Given the description of an element on the screen output the (x, y) to click on. 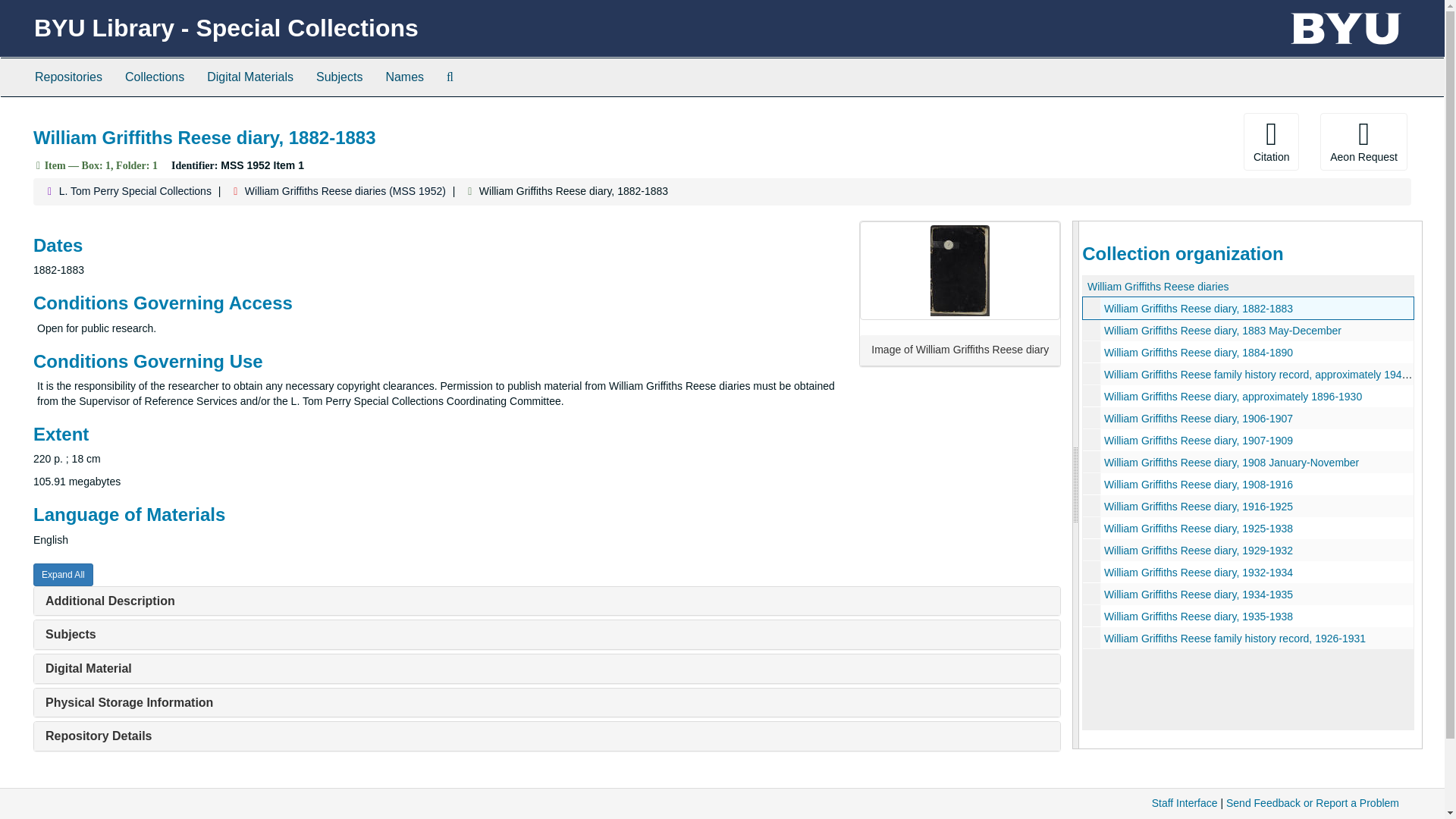
William Griffiths Reese family history record (1248, 373)
William Griffiths Reese diary (1248, 308)
William Griffiths Reese diary (1248, 418)
William Griffiths Reese diary, 1882-1883 (1197, 308)
William Griffiths Reese diary (1248, 462)
William Griffiths Reese diary (1248, 572)
Expand All (63, 574)
William Griffiths Reese diaries (1157, 286)
Digital Materials (249, 77)
Page Actions (1130, 141)
Additional Description (109, 600)
Digital Material (88, 667)
L. Tom Perry Special Collections (135, 191)
William Griffiths Reese diary (1248, 352)
